Given the description of an element on the screen output the (x, y) to click on. 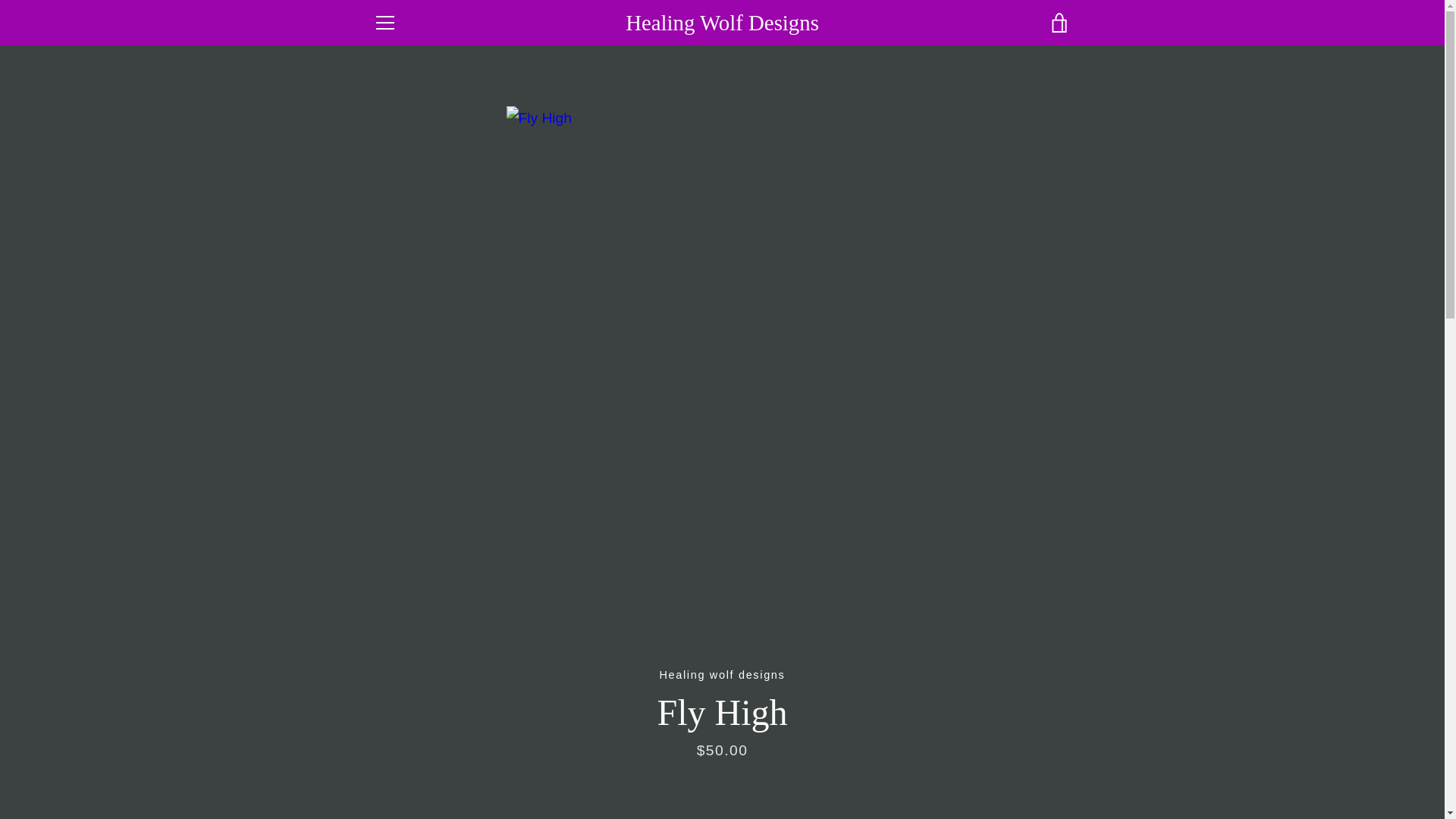
Shop Pay (988, 778)
Healing Wolf Designs on Facebook (372, 764)
Visa (1057, 778)
PayPal (953, 778)
Google Pay (1057, 754)
MENU (384, 22)
Powered by Shopify (721, 777)
Apple Pay (918, 754)
Healing Wolf Designs (769, 753)
VIEW CART (1059, 22)
